Given the description of an element on the screen output the (x, y) to click on. 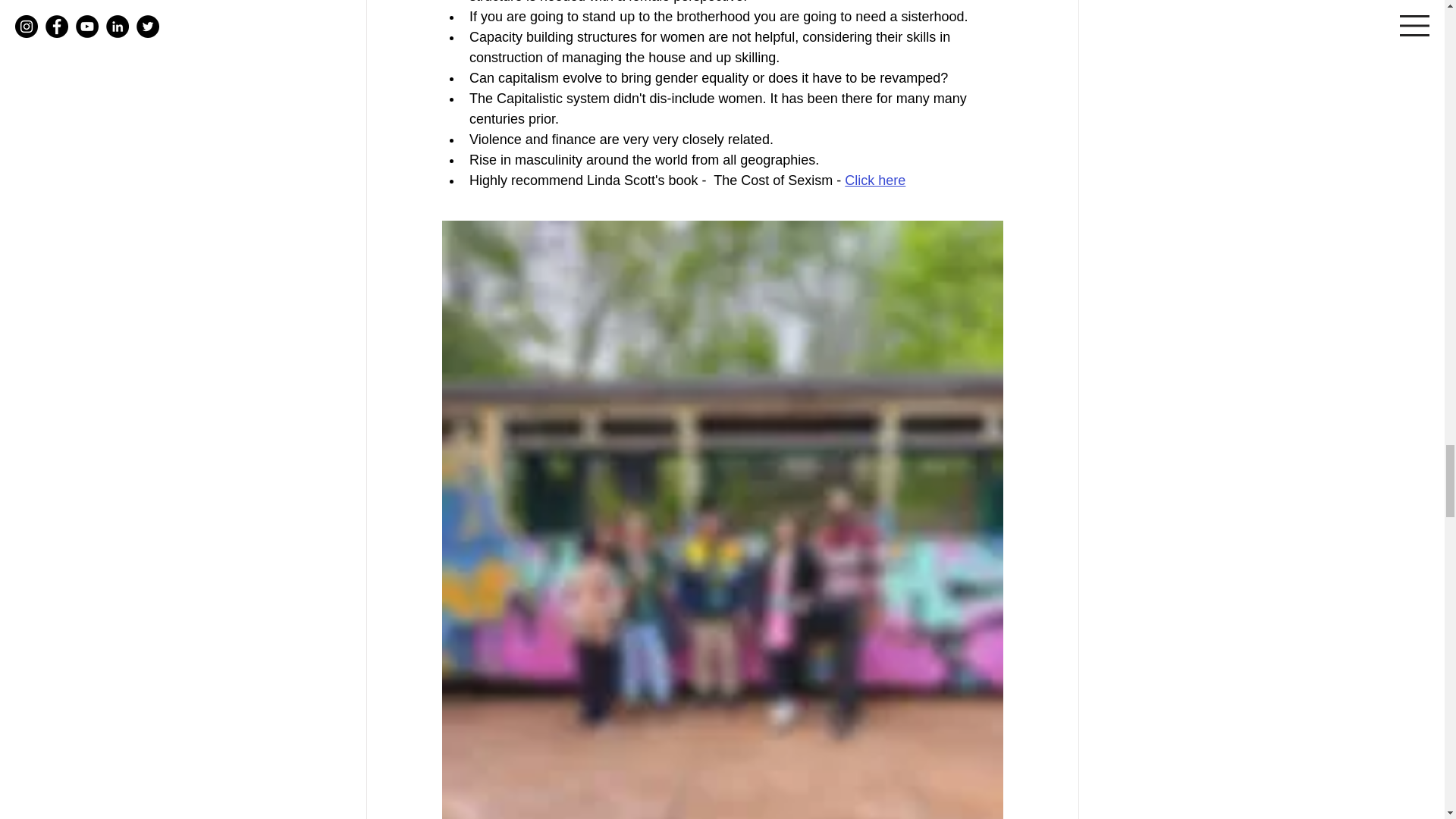
Click here (874, 180)
